Given the description of an element on the screen output the (x, y) to click on. 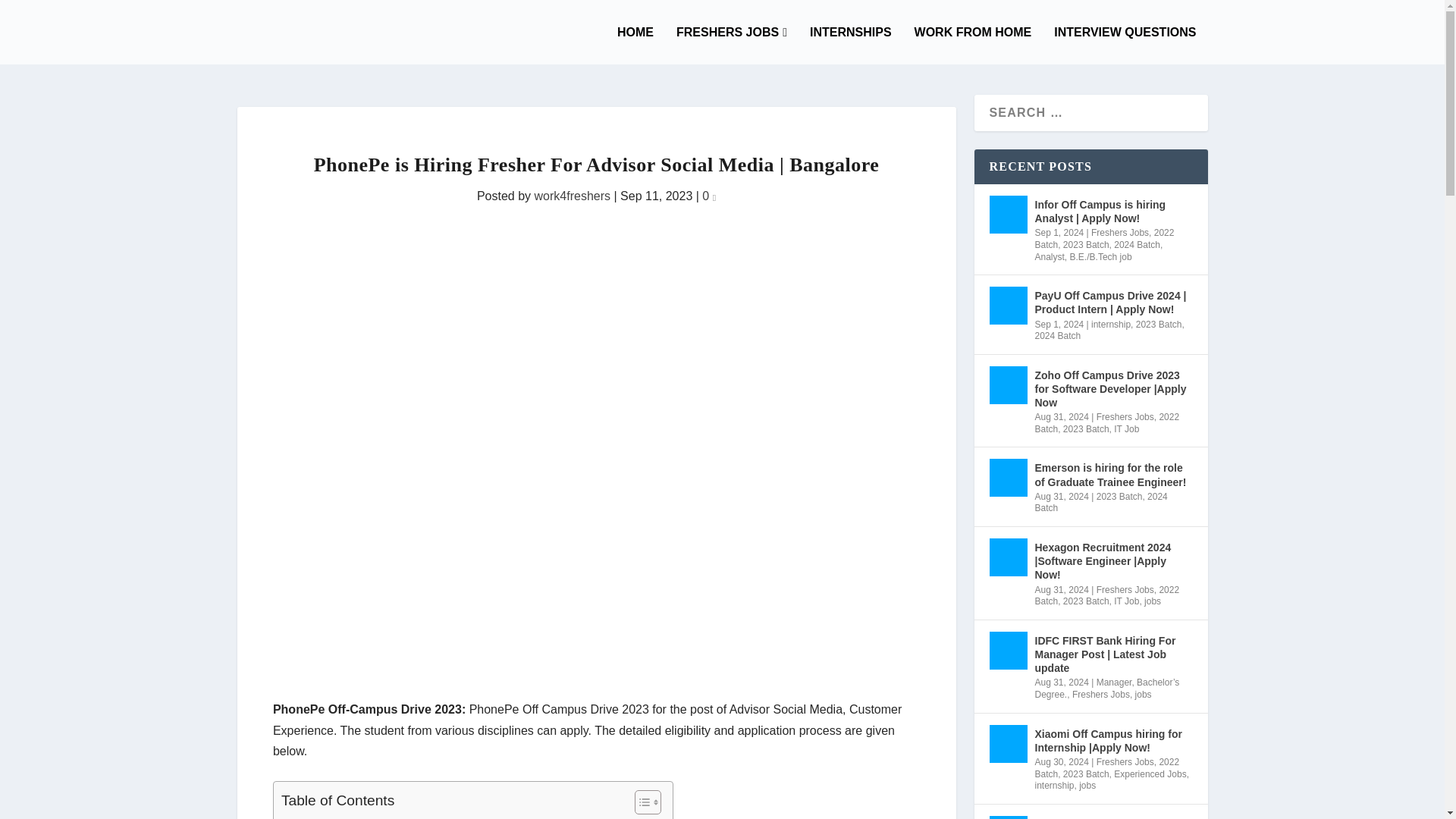
work4freshers (572, 195)
WORK FROM HOME (973, 44)
Posts by work4freshers (572, 195)
INTERNSHIPS (850, 44)
HOME (635, 44)
FRESHERS JOBS (732, 44)
INTERVIEW QUESTIONS (1124, 44)
0 (708, 195)
